Given the description of an element on the screen output the (x, y) to click on. 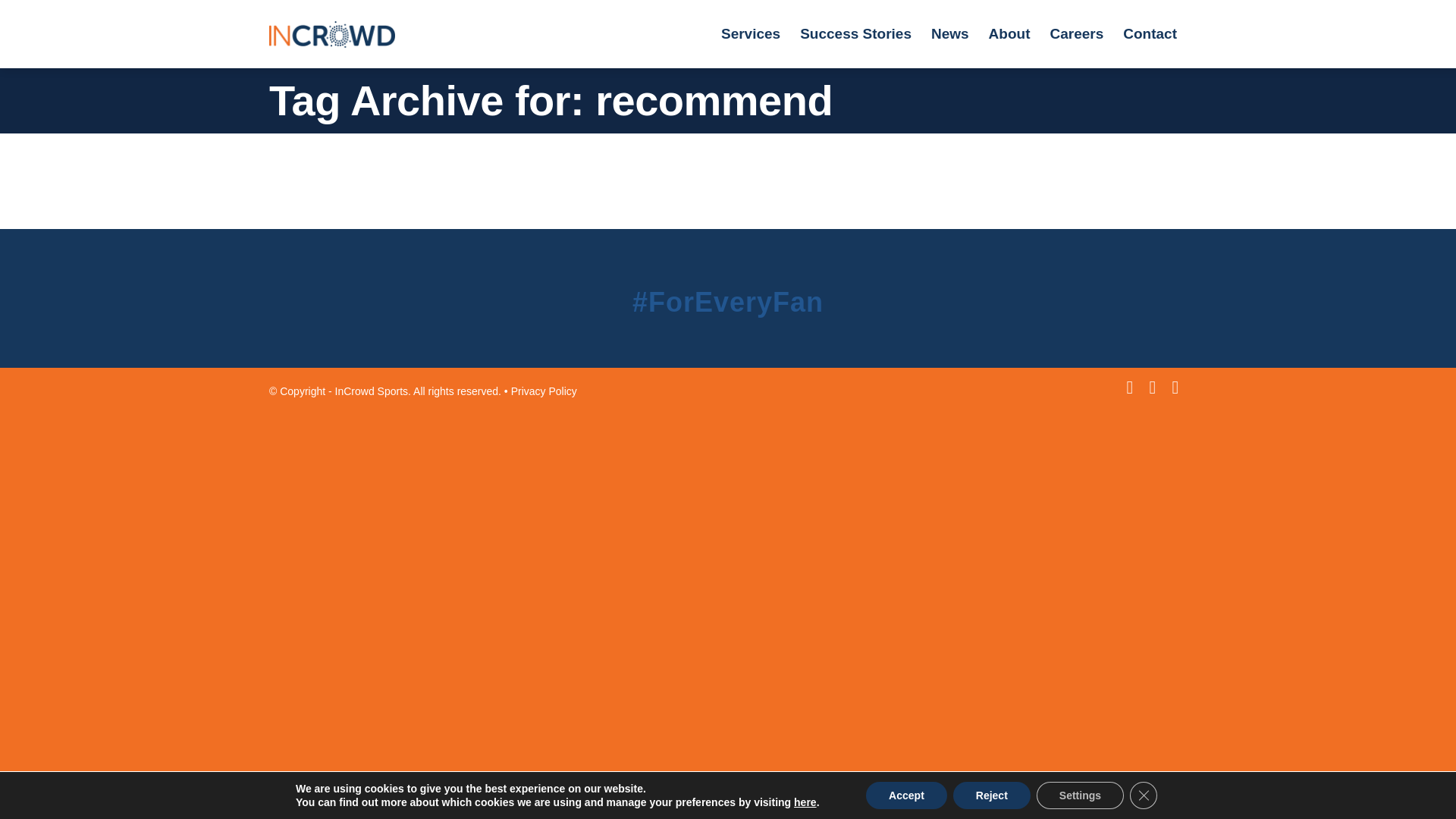
InCrowd Logo (331, 23)
Careers (1076, 33)
Success Stories (855, 33)
InCrowd Logo (331, 33)
About (1009, 33)
Privacy Policy (543, 390)
Permanent Link: Tag Archive for: recommend (550, 100)
Tag Archive for: recommend (550, 100)
Services (750, 33)
Contact (1149, 33)
